Given the description of an element on the screen output the (x, y) to click on. 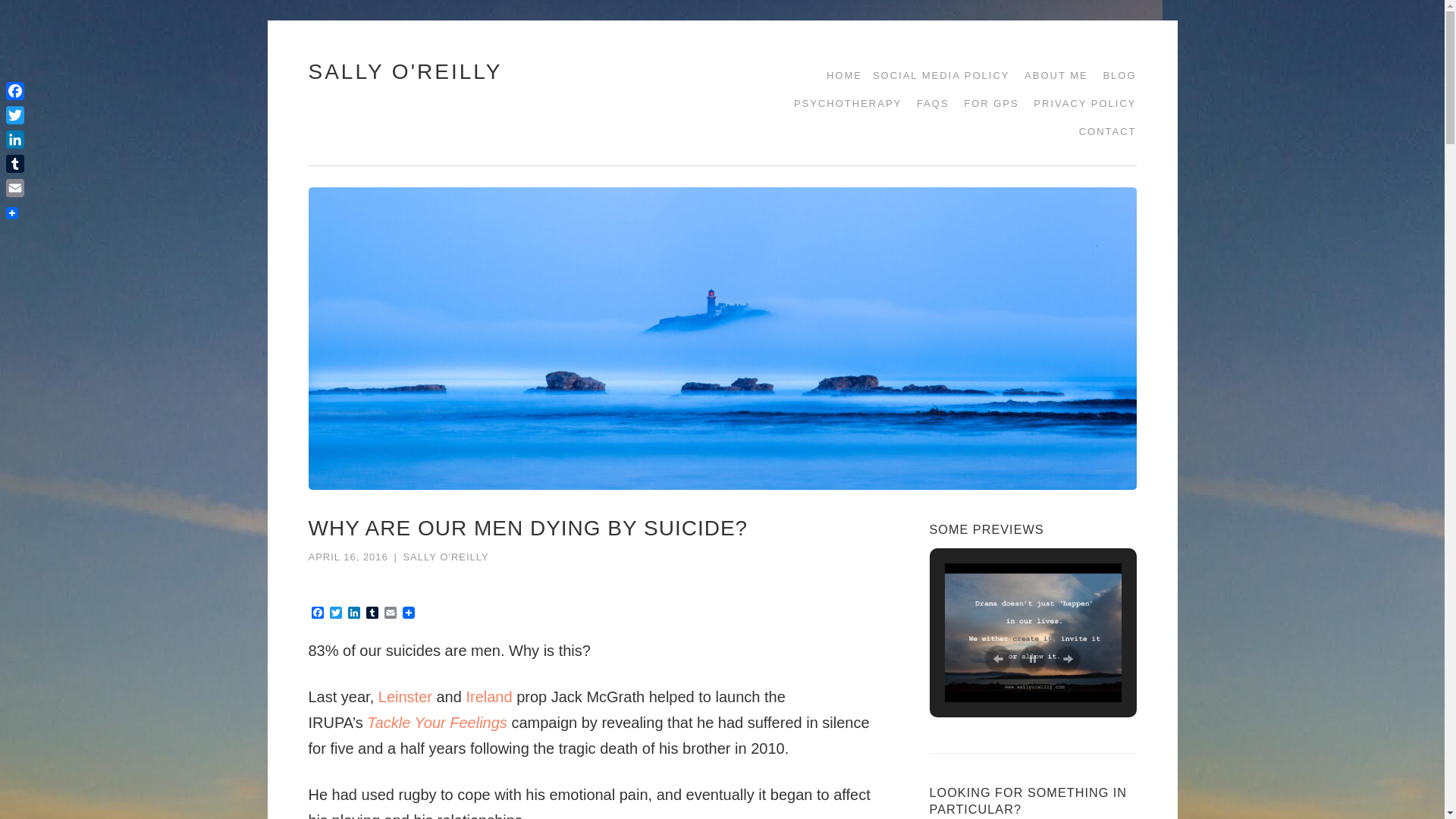
CONTACT (1102, 131)
Twitter (334, 613)
Email (389, 613)
LinkedIn (352, 613)
ABOUT ME (1050, 75)
HOME (838, 75)
Facebook (316, 613)
FOR GPS (986, 103)
Twitter (334, 613)
APRIL 16, 2016 (347, 556)
SALLY O'REILLY (404, 71)
Tackle Your Feelings  (438, 722)
LinkedIn (352, 613)
Facebook (316, 613)
